Given the description of an element on the screen output the (x, y) to click on. 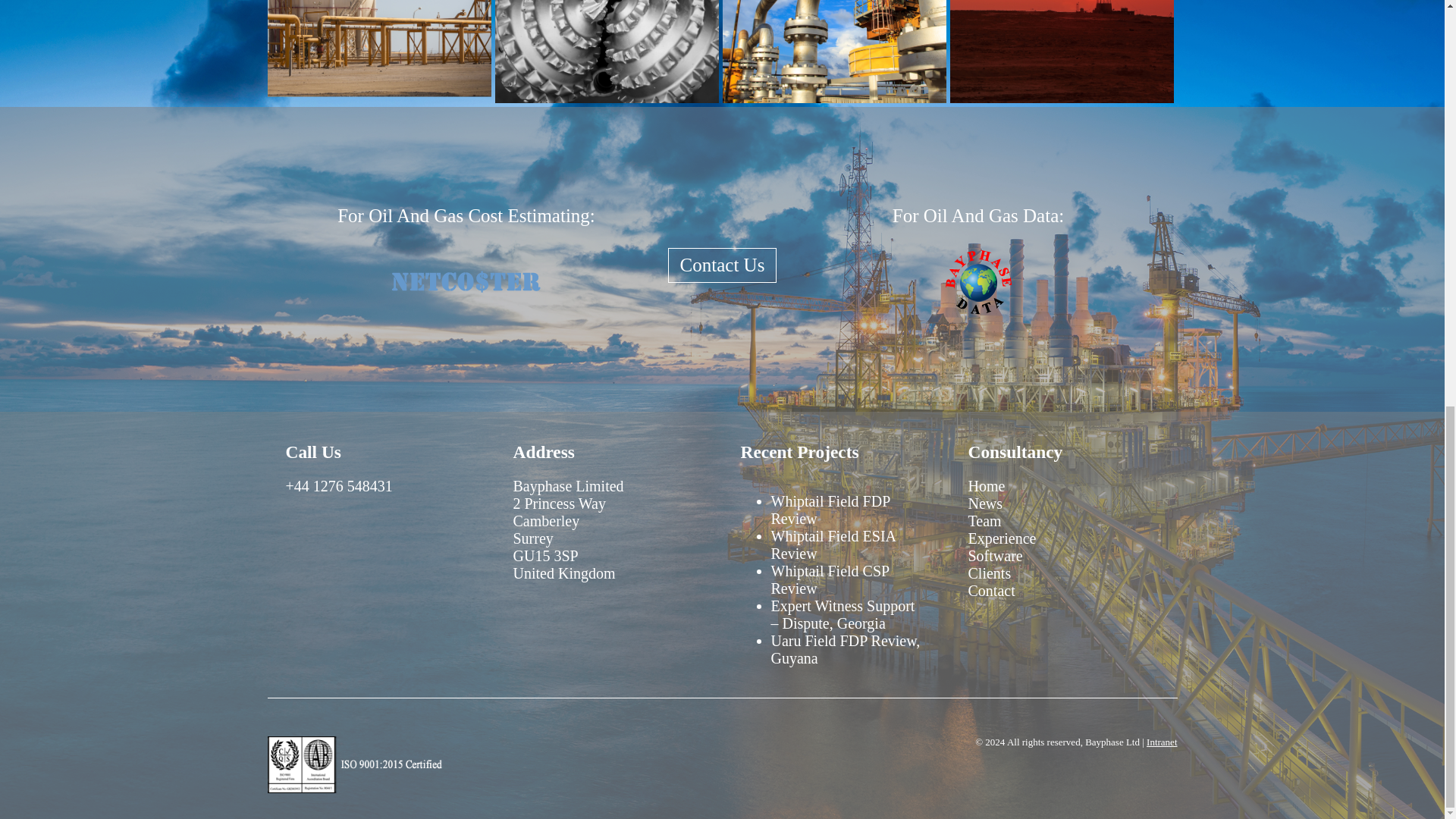
Intranet (1161, 741)
News (985, 503)
Home (986, 485)
Uaru Field FDP Review, Guyana (845, 649)
Whiptail Field ESIA Review (832, 544)
Software (995, 555)
Contact Us (722, 265)
Contact (991, 590)
Clients (989, 573)
Team (984, 520)
